Given the description of an element on the screen output the (x, y) to click on. 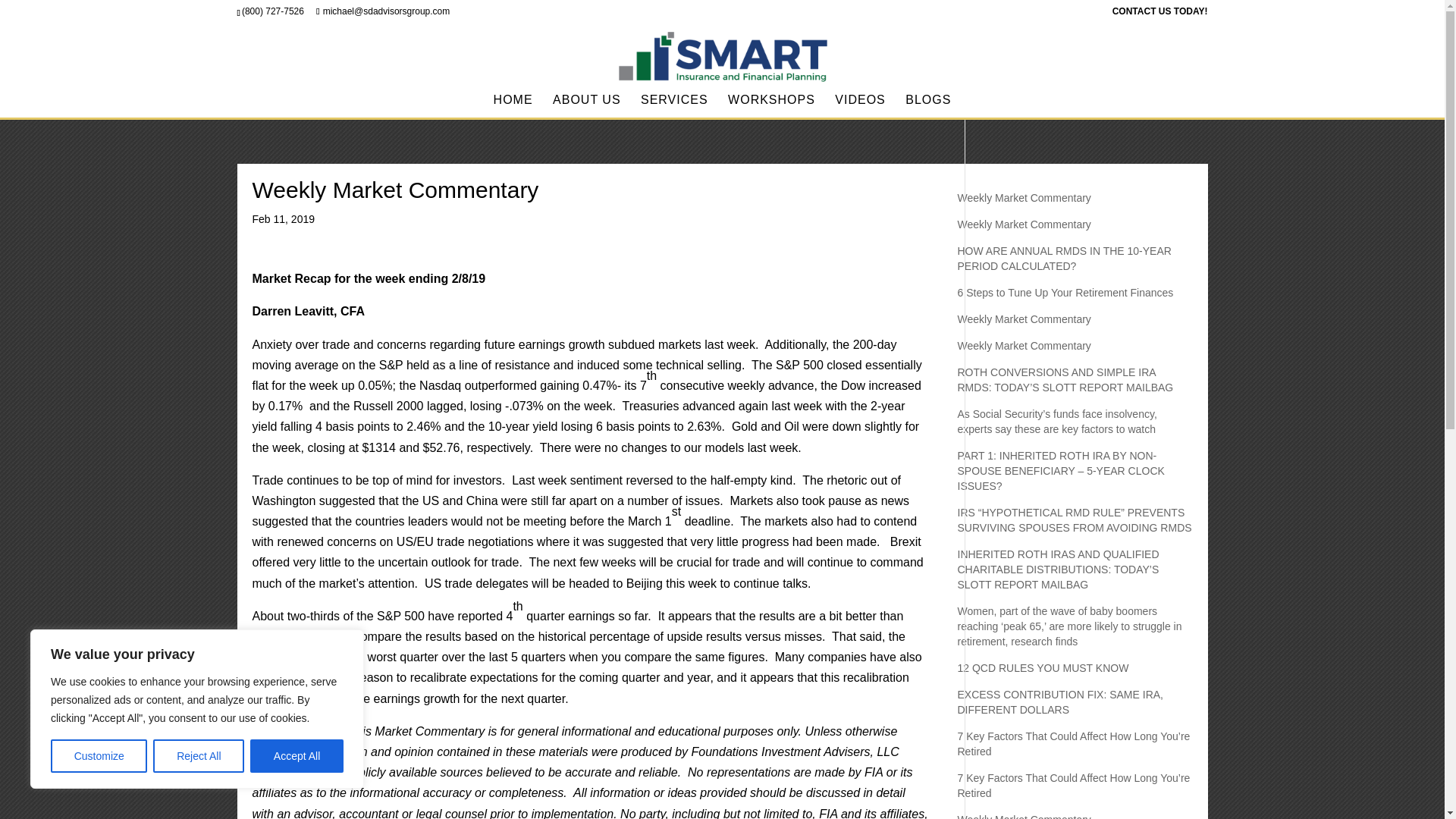
CONTACT US TODAY! (1160, 14)
BLOGS (927, 106)
Accept All (296, 756)
HOME (512, 106)
WORKSHOPS (771, 106)
Weekly Market Commentary (1023, 318)
ABOUT US (587, 106)
HOW ARE ANNUAL RMDS IN THE 10-YEAR PERIOD CALCULATED? (1063, 257)
Reject All (198, 756)
Weekly Market Commentary (1023, 197)
Weekly Market Commentary (1023, 345)
6 Steps to Tune Up Your Retirement Finances (1064, 292)
Customize (98, 756)
SERVICES (673, 106)
Weekly Market Commentary (1023, 224)
